Given the description of an element on the screen output the (x, y) to click on. 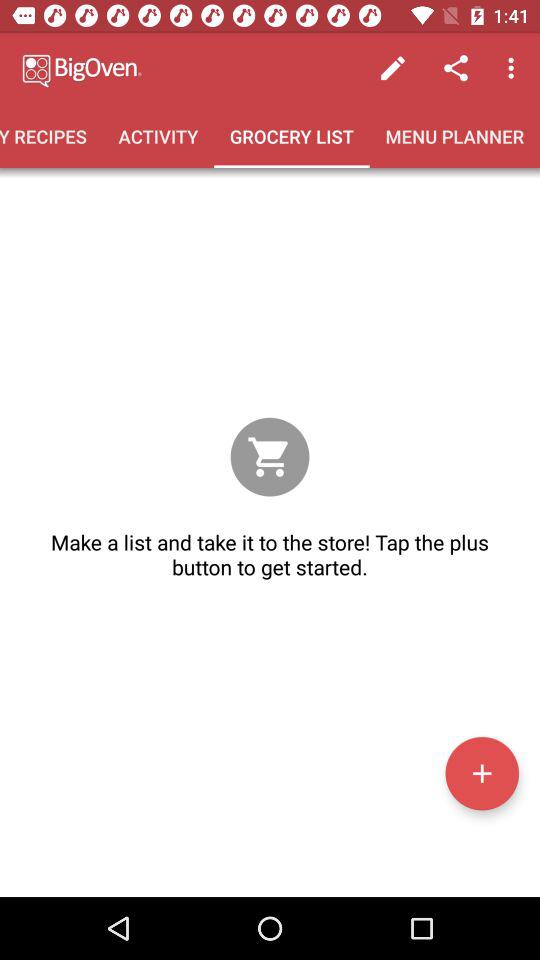
press the item above menu planner (513, 67)
